Given the description of an element on the screen output the (x, y) to click on. 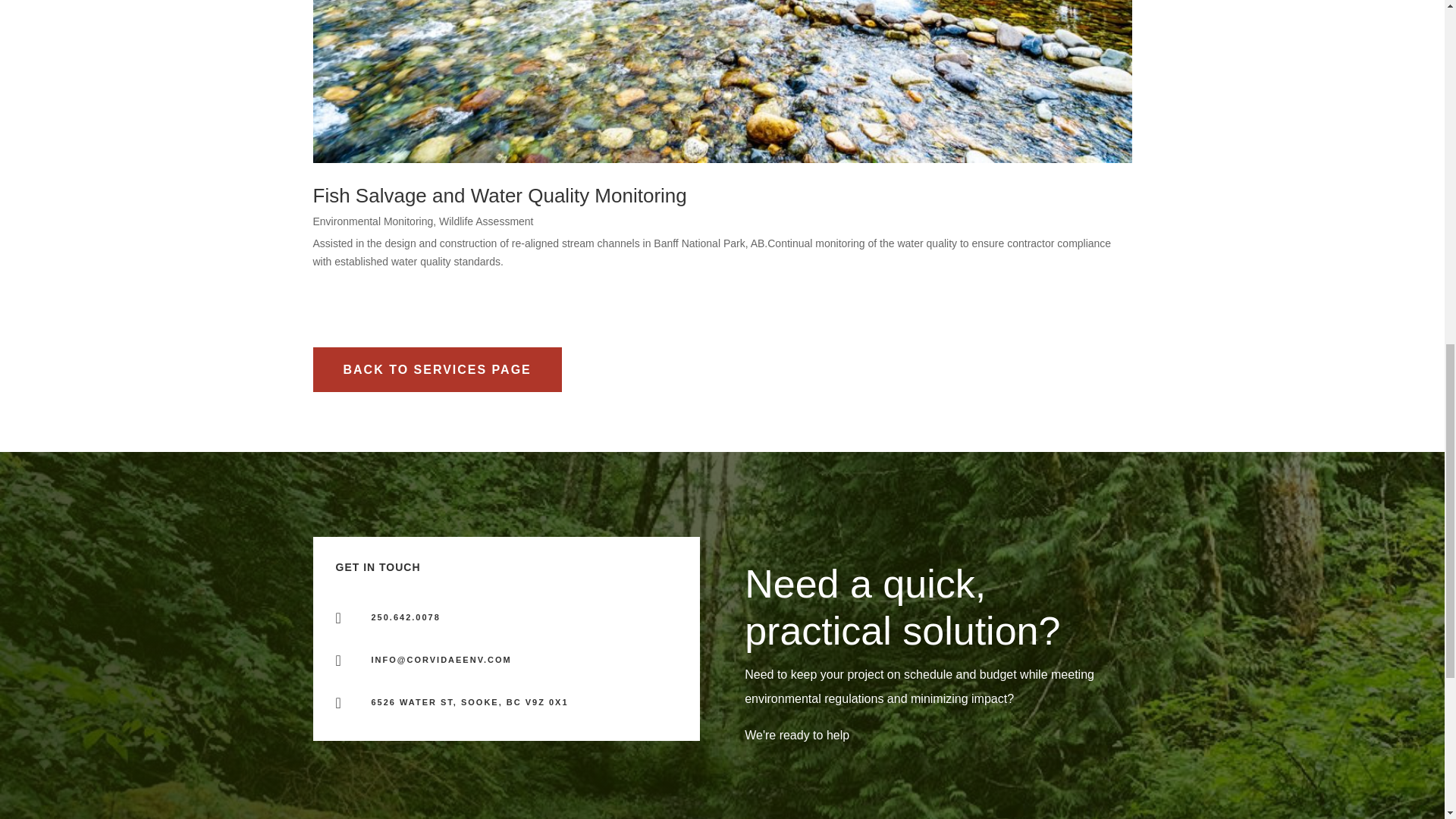
Environmental Monitoring (372, 221)
BACK TO SERVICES PAGE (436, 369)
Fish Salvage and Water Quality Monitoring (499, 195)
Wildlife Assessment (485, 221)
